Given the description of an element on the screen output the (x, y) to click on. 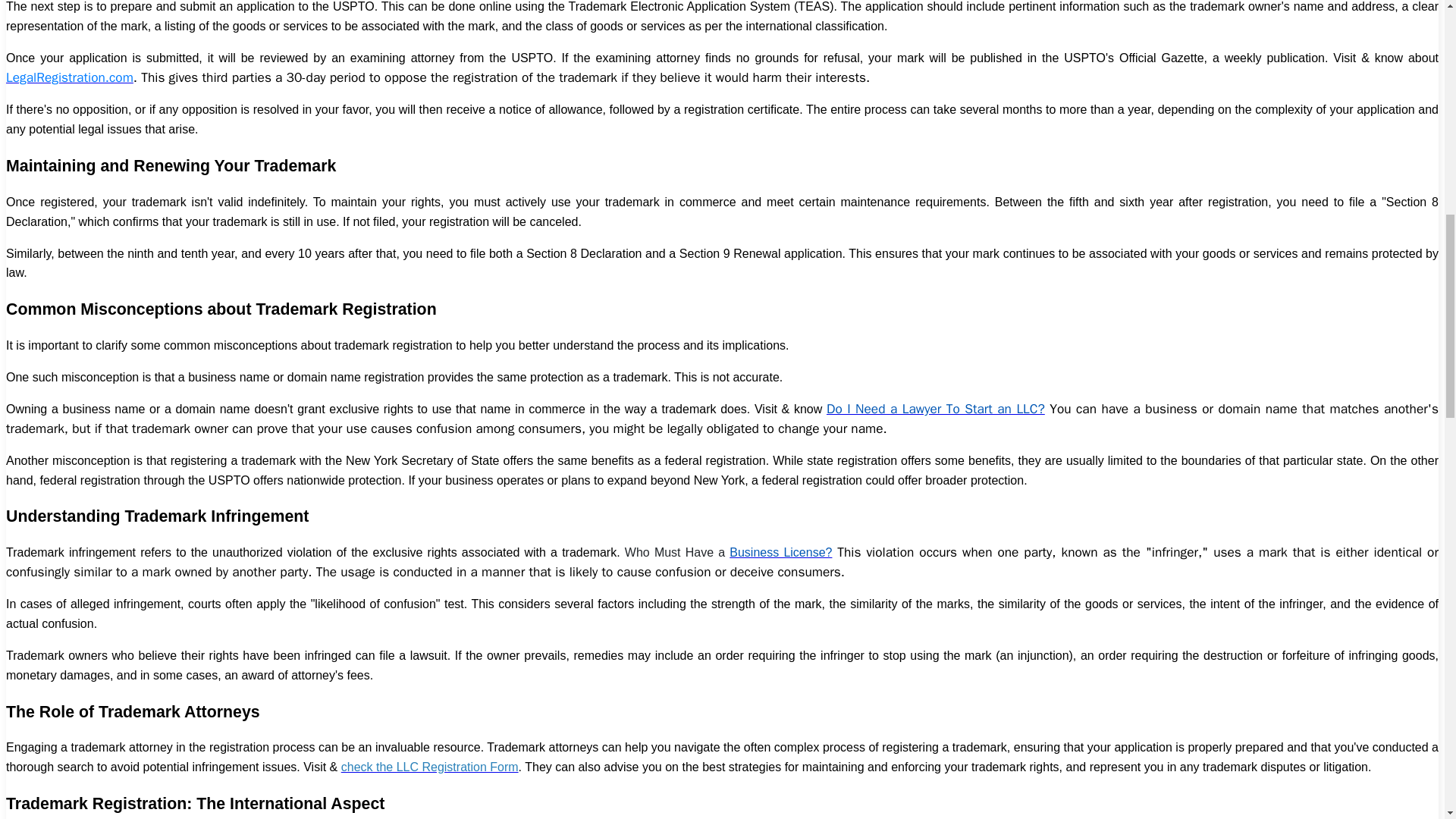
check the LLC Registration Form (429, 766)
LegalRegistration.com (69, 76)
Business License? (780, 552)
Do I Need a Lawyer To Start an LLC? (936, 408)
